Given the description of an element on the screen output the (x, y) to click on. 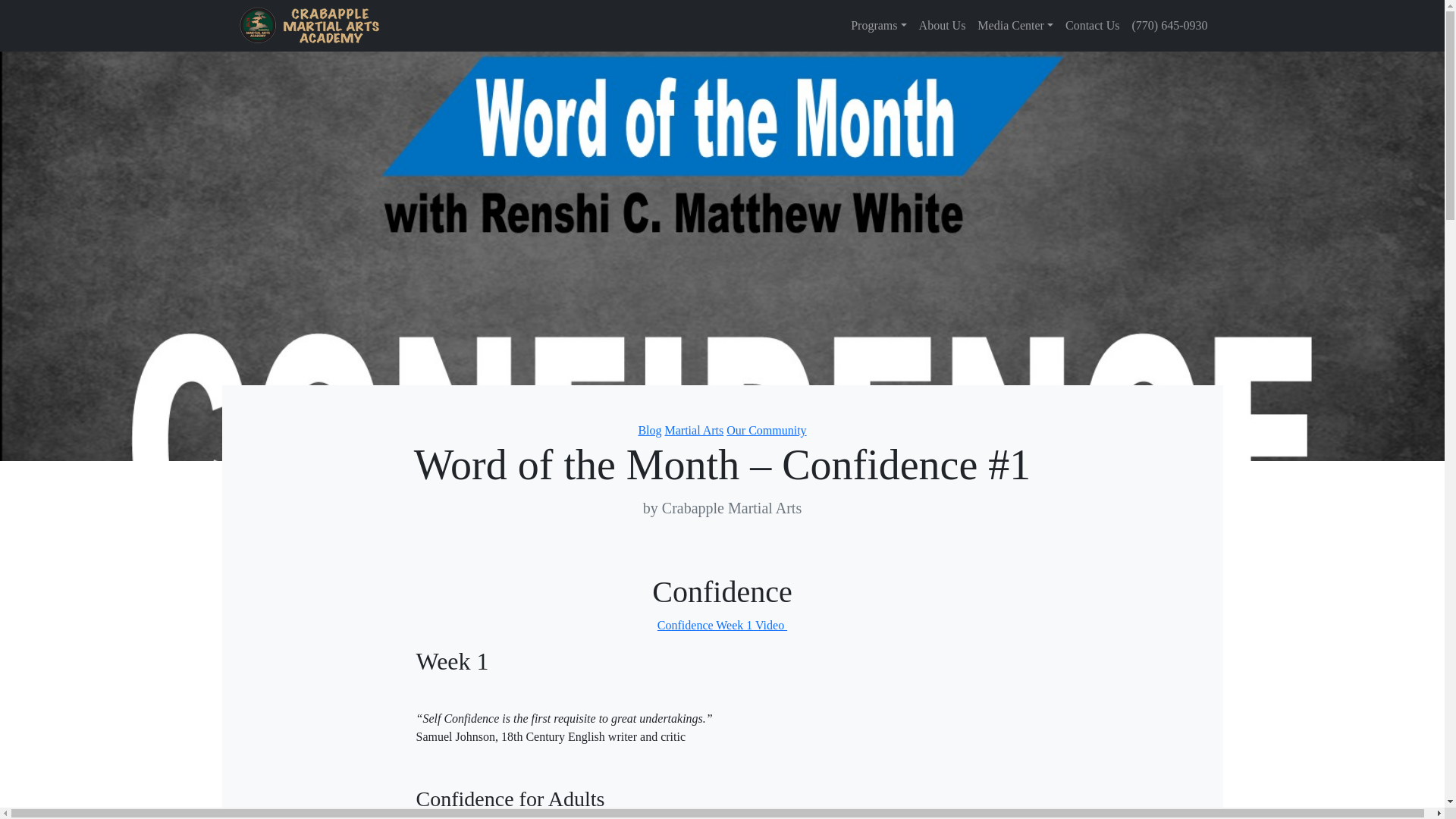
Martial Arts (693, 430)
Media Center (1015, 25)
Blog (649, 430)
Confidence Week 1 Video  (722, 625)
Our Community (766, 430)
Contact Us (1092, 25)
About Us (942, 25)
Programs (878, 25)
